Given the description of an element on the screen output the (x, y) to click on. 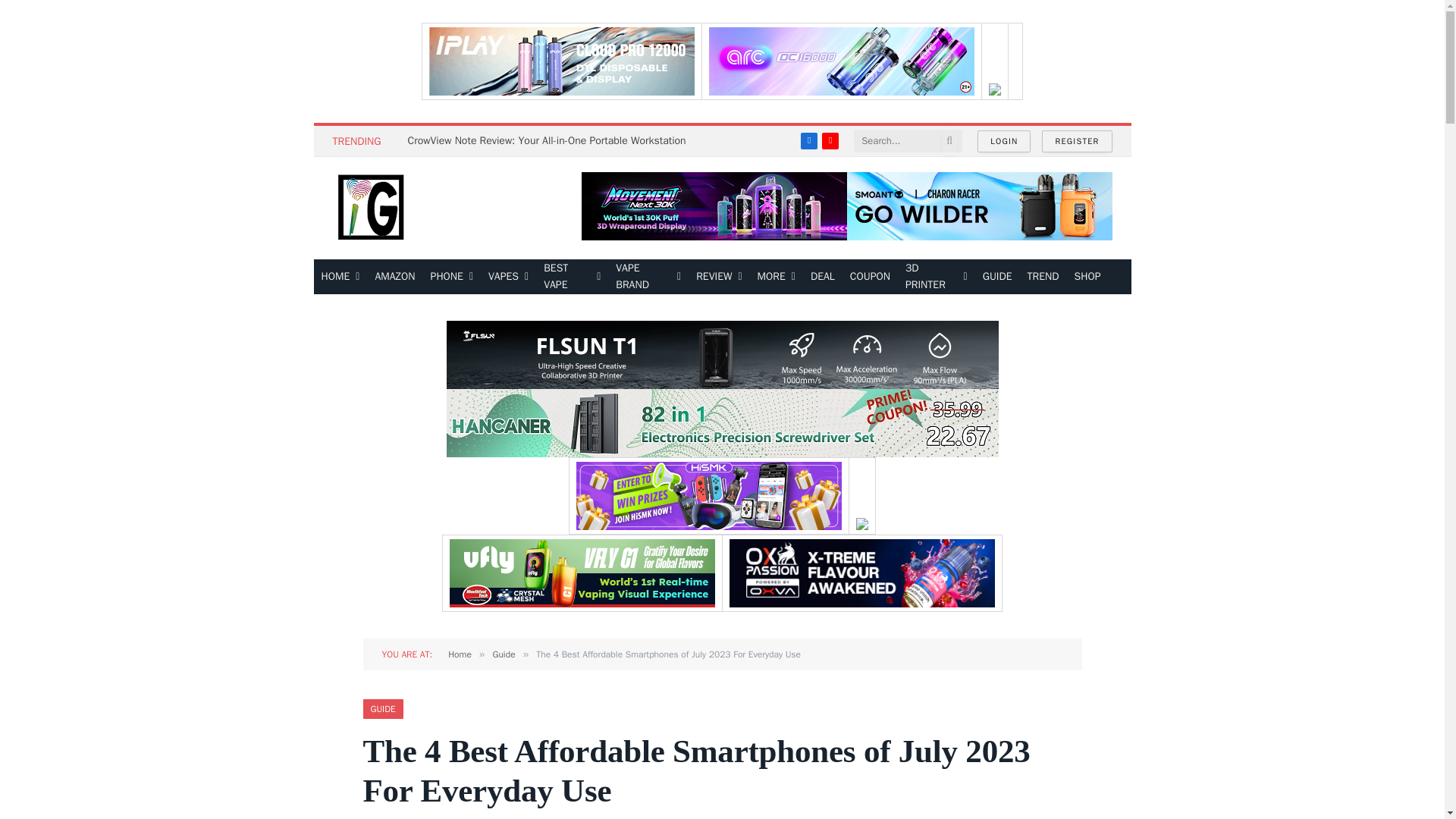
LOGIN (1003, 141)
YouTube (830, 140)
PHONE (451, 276)
CrowView Note Review: Your All-in-One Portable Workstation (550, 141)
Facebook (808, 140)
HOME (341, 276)
AMAZON (394, 276)
REGISTER (1077, 141)
